Given the description of an element on the screen output the (x, y) to click on. 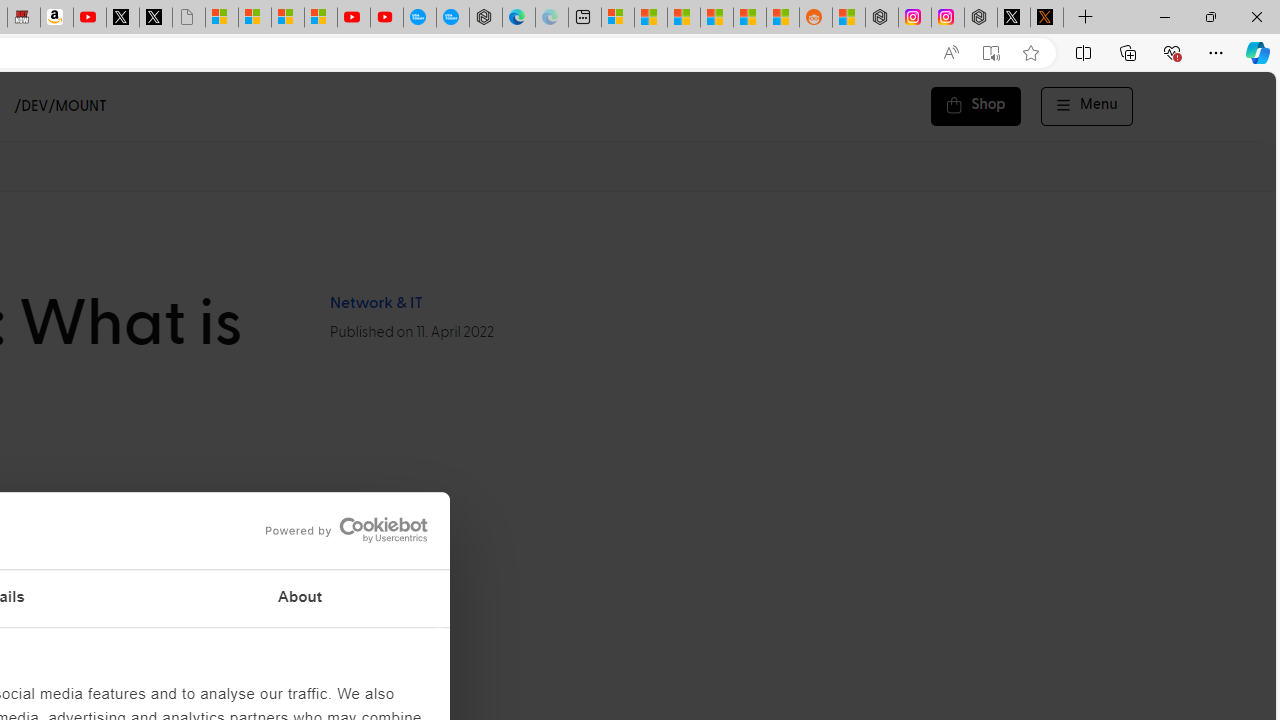
YouTube Kids - An App Created for Kids to Explore Content (387, 17)
Nordace - Nordace has arrived Hong Kong (485, 17)
help.x.com | 524: A timeout occurred (1046, 17)
Enter Immersive Reader (F9) (991, 53)
